Given the description of an element on the screen output the (x, y) to click on. 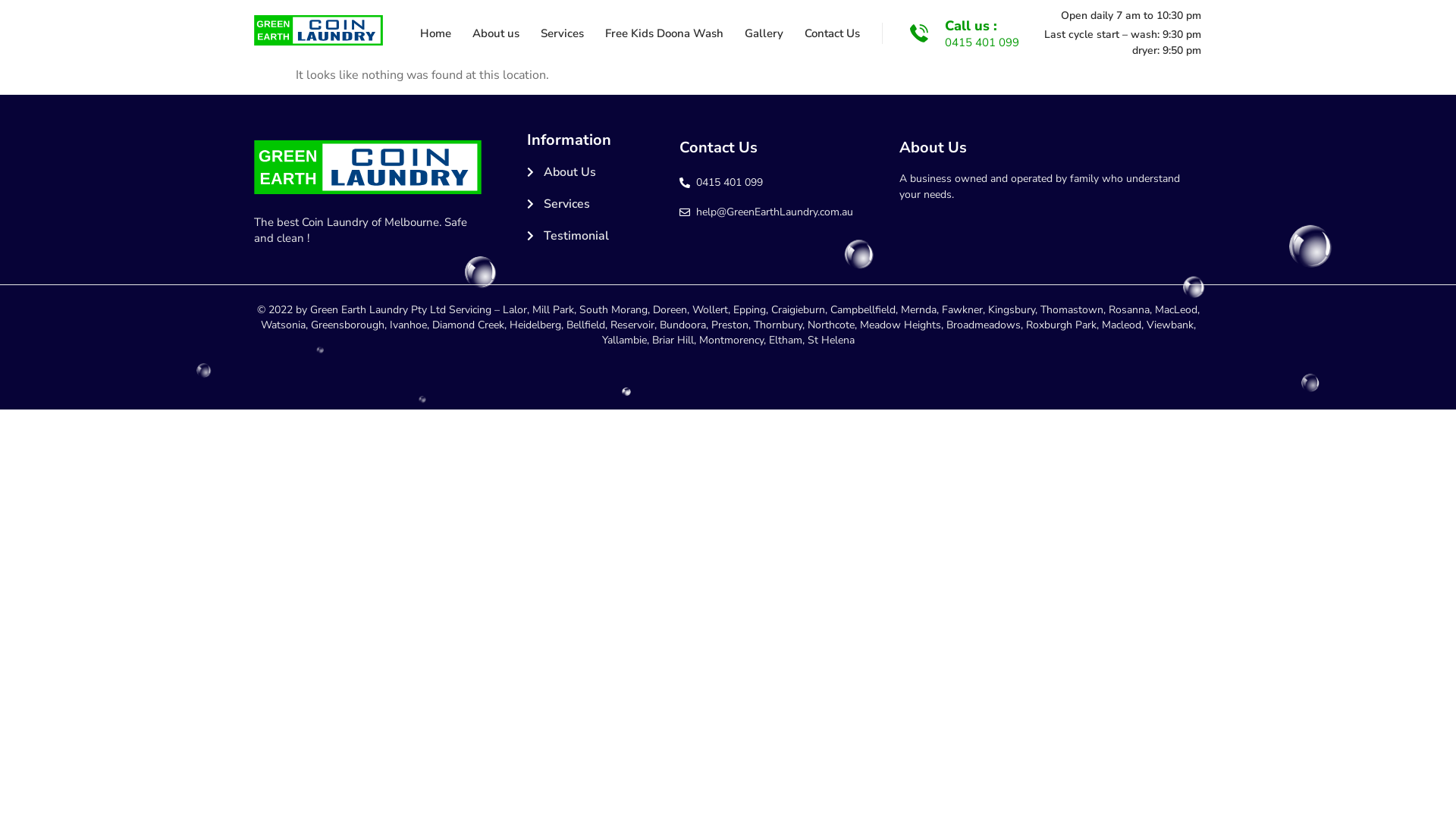
Home Element type: text (435, 32)
Services Element type: text (562, 32)
Free Kids Doona Wash Element type: text (664, 32)
Testimonial Element type: text (599, 235)
Gallery Element type: text (763, 32)
About us Element type: text (495, 32)
Contact Us Element type: text (831, 32)
Services Element type: text (599, 203)
help@GreenEarthLaundry.com.au Element type: text (781, 211)
About Us Element type: text (599, 172)
